Given the description of an element on the screen output the (x, y) to click on. 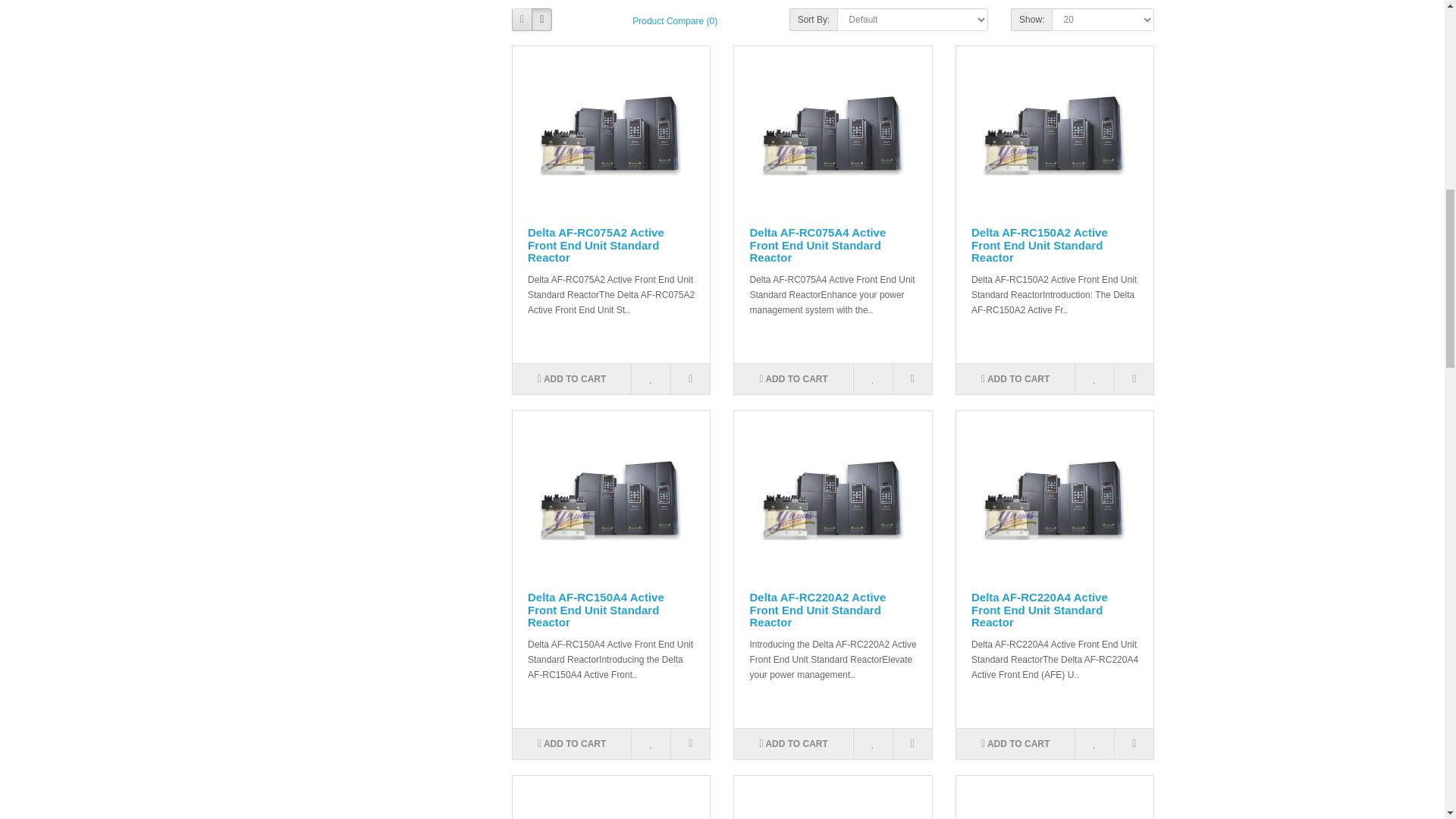
Delta AF-RC075A4 Active Front End Unit Standard Reactor (833, 132)
Delta AF-RC150A2 Active Front End Unit Standard Reactor (1054, 132)
Delta AF-RC075A2 Active Front End Unit Standard Reactor (610, 132)
Delta AF-RC150A4 Active Front End Unit Standard Reactor (610, 497)
